Given the description of an element on the screen output the (x, y) to click on. 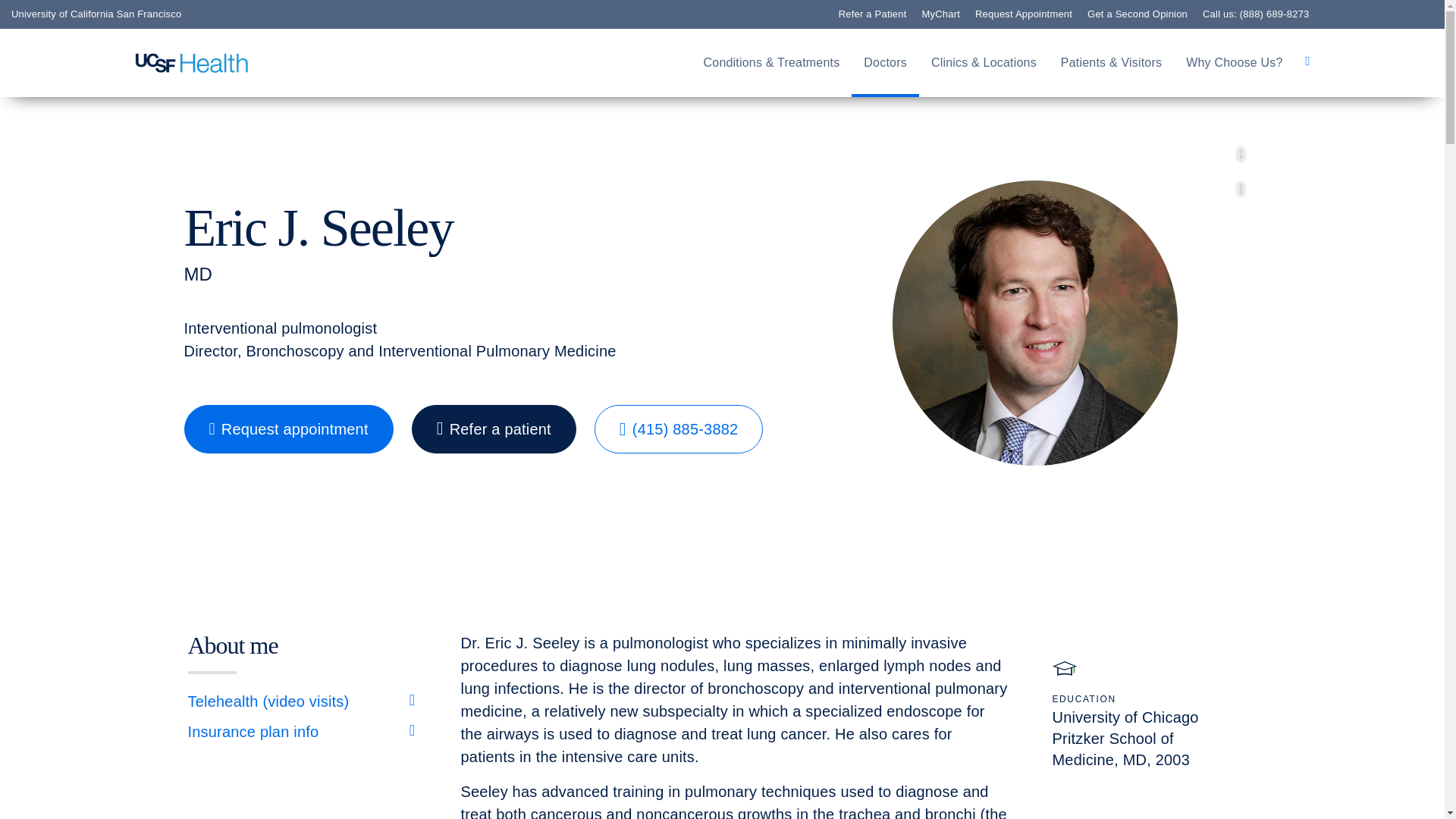
 Conditions (97, 288)
Find a Doctor (107, 220)
University of California San Francisco (95, 13)
 Clinics (83, 265)
 Treatments (99, 311)
University of California San Francisco (95, 13)
 Refer a Patient (112, 242)
UCSF Home (191, 62)
Doctors (884, 62)
